Given the description of an element on the screen output the (x, y) to click on. 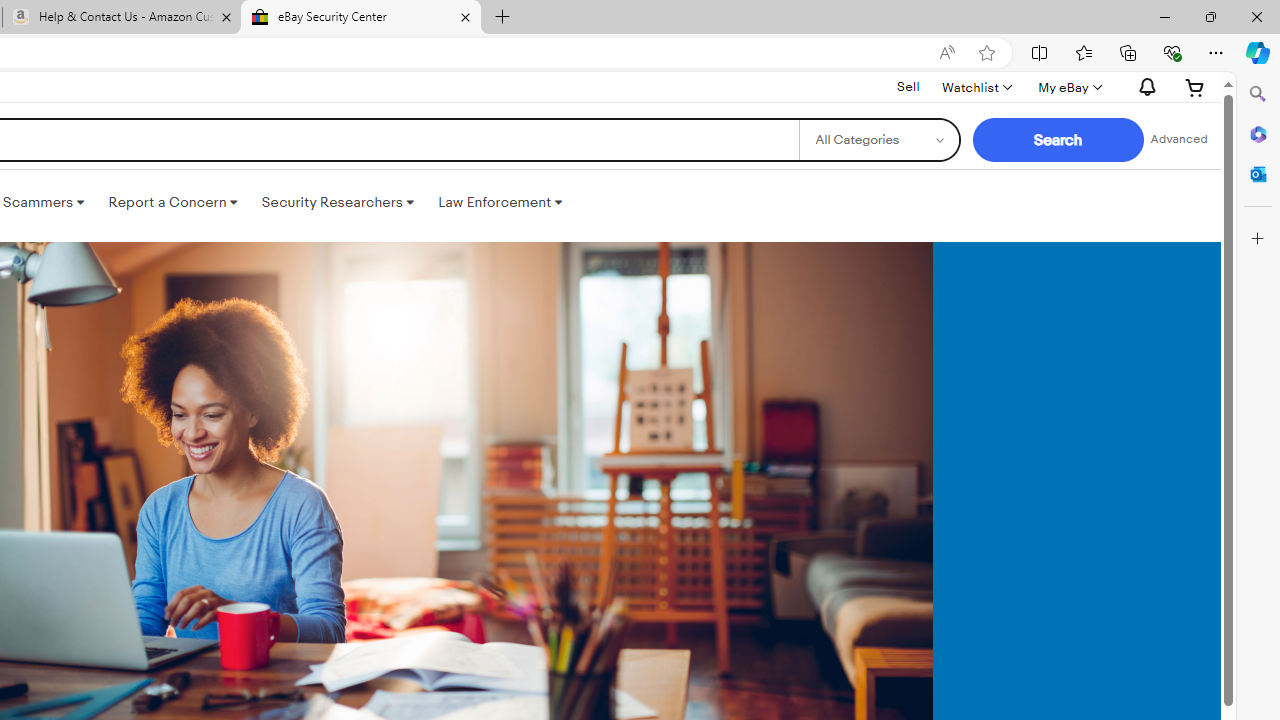
Notifications (1142, 87)
